Given the description of an element on the screen output the (x, y) to click on. 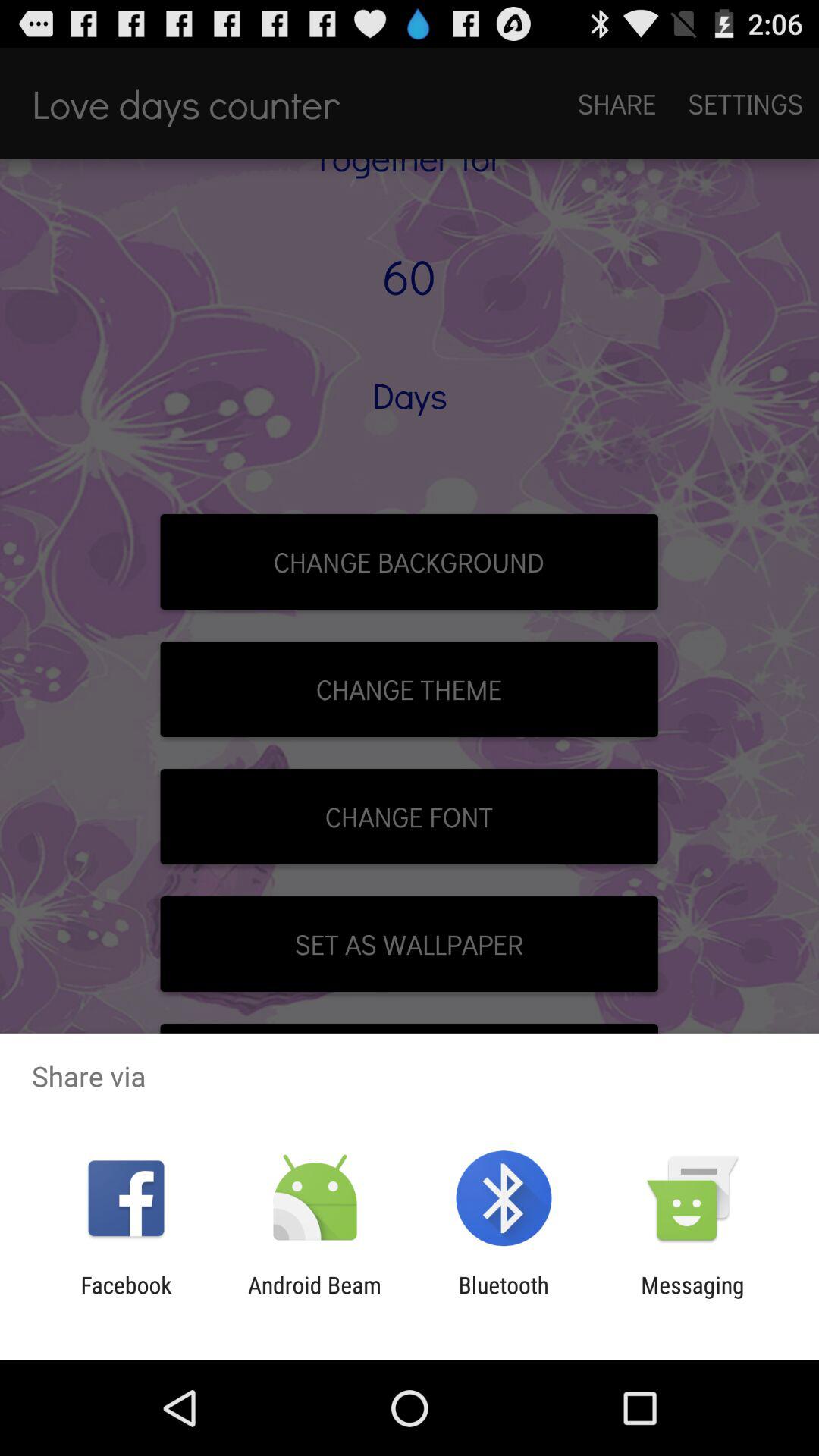
select app to the right of the android beam (503, 1298)
